Given the description of an element on the screen output the (x, y) to click on. 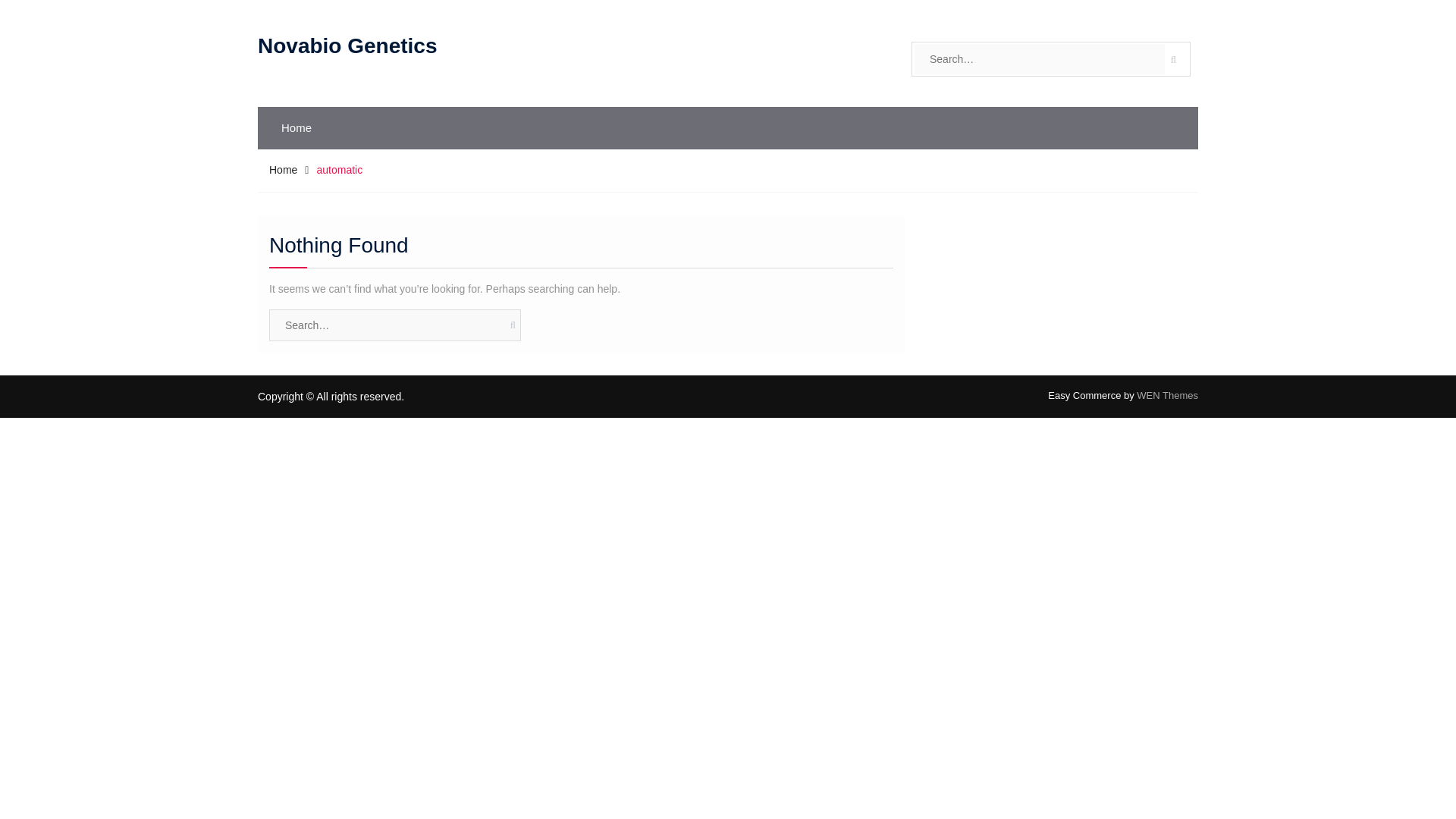
WEN Themes (1167, 395)
Home (296, 128)
Search for: (395, 325)
Search for: (1039, 59)
Novabio Genetics (347, 45)
Home (283, 169)
